Given the description of an element on the screen output the (x, y) to click on. 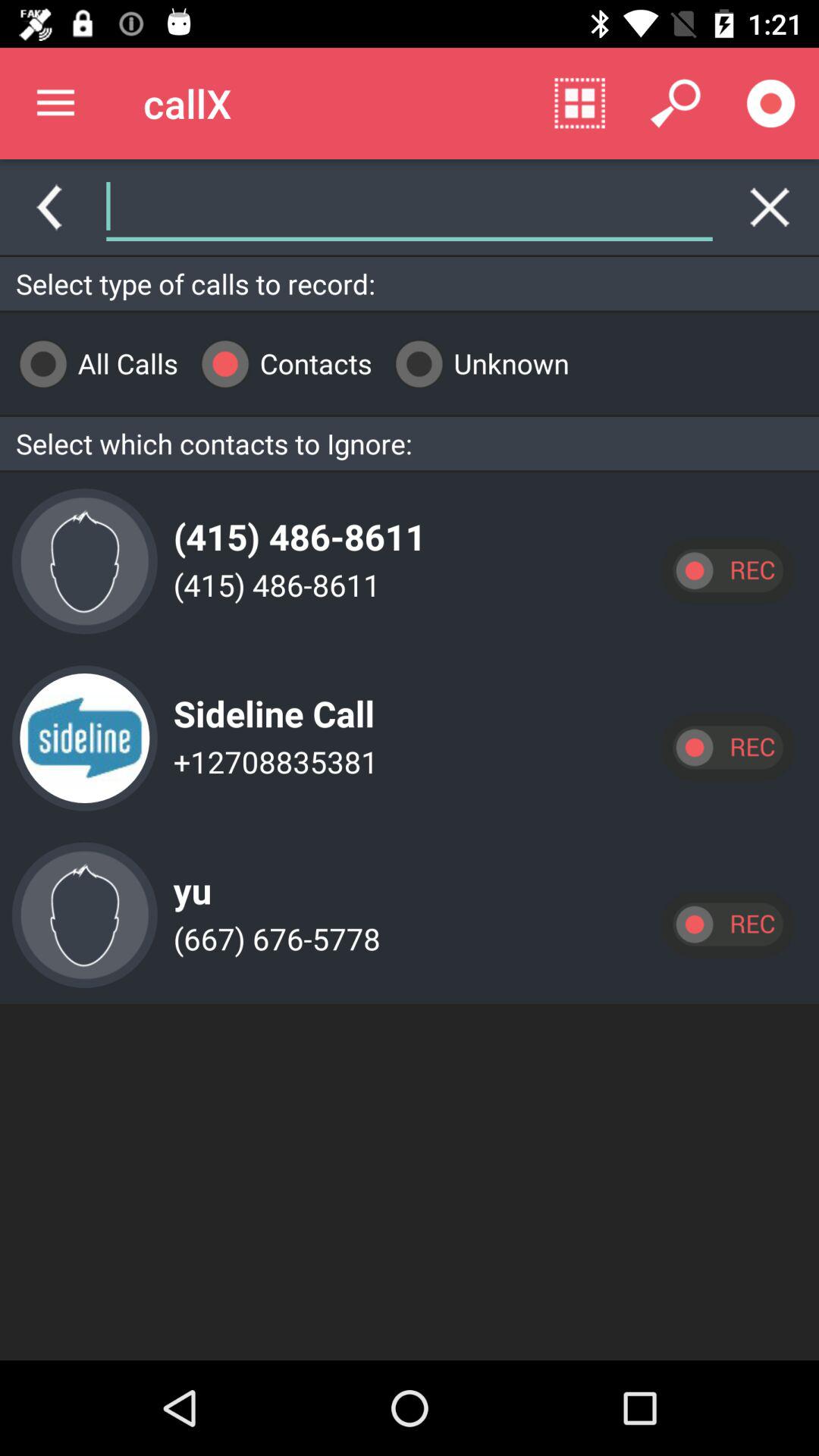
press icon to the right of contacts (476, 363)
